Given the description of an element on the screen output the (x, y) to click on. 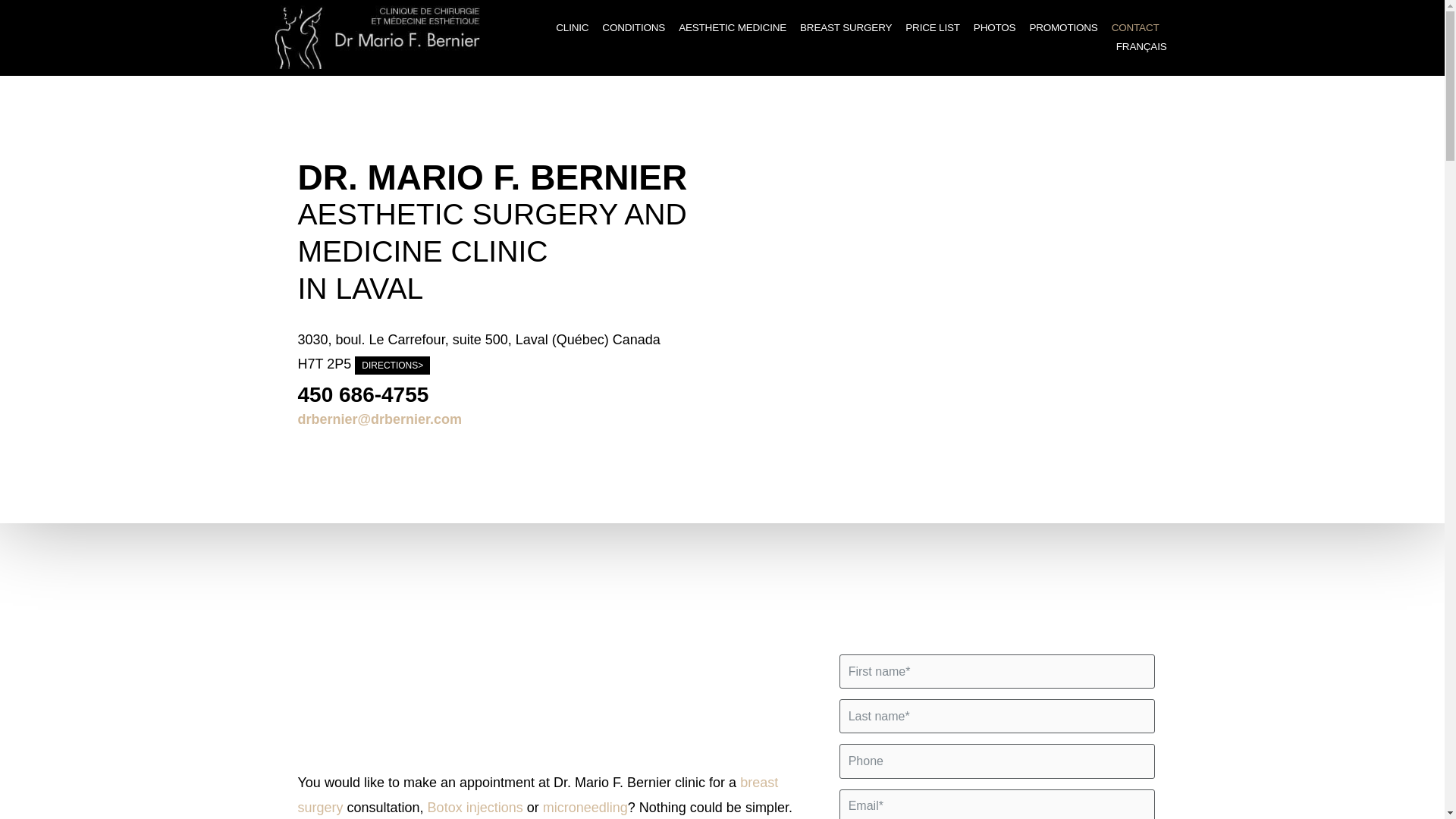
BREAST SURGERY (845, 27)
CLINIC (572, 27)
PRICE LIST (932, 27)
CONDITIONS (633, 27)
AESTHETIC MEDICINE (732, 27)
